Given the description of an element on the screen output the (x, y) to click on. 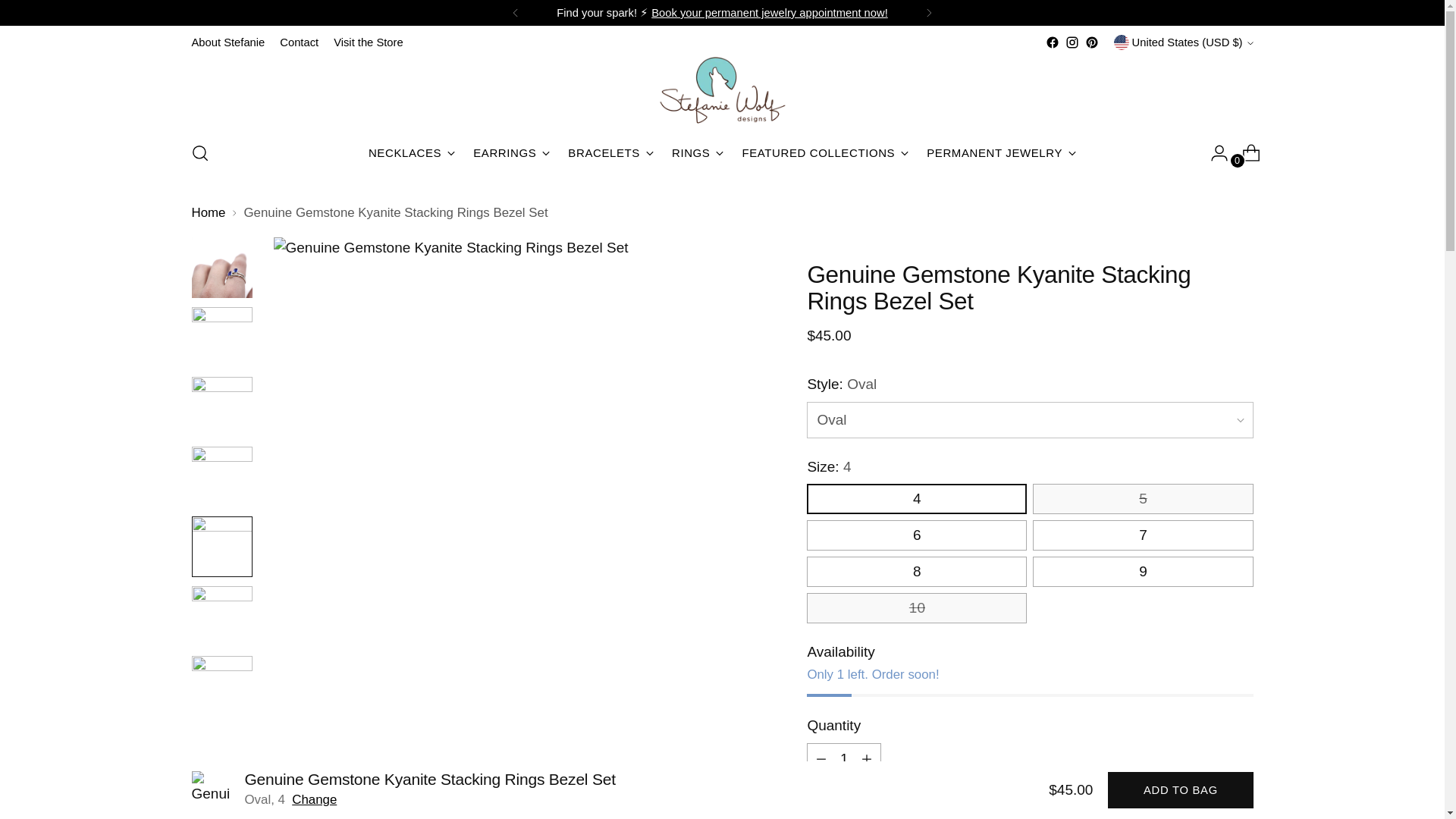
About Stefanie (227, 41)
NECKLACES (411, 152)
Stefanie Wolf Designs on Facebook (1052, 42)
Visit the Store (368, 41)
Permanent Jewelry on Martha's Vineyard (769, 12)
Stefanie Wolf Designs on Instagram (1071, 42)
Next (928, 12)
1 (843, 758)
EARRINGS (511, 152)
Stefanie Wolf Designs on Pinterest (1091, 42)
Contact (298, 41)
Previous (515, 12)
